Given the description of an element on the screen output the (x, y) to click on. 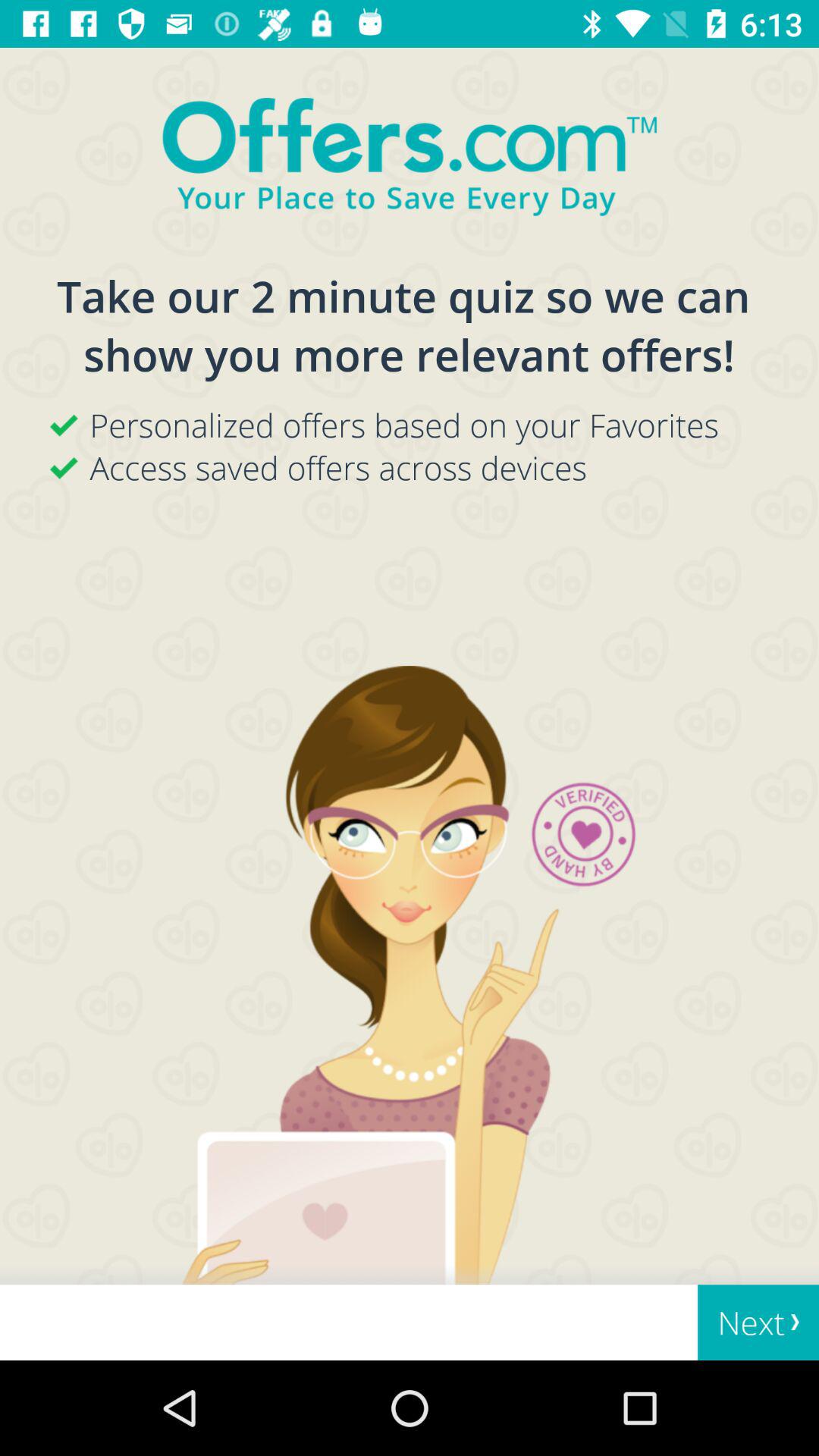
tap next item (758, 1322)
